Given the description of an element on the screen output the (x, y) to click on. 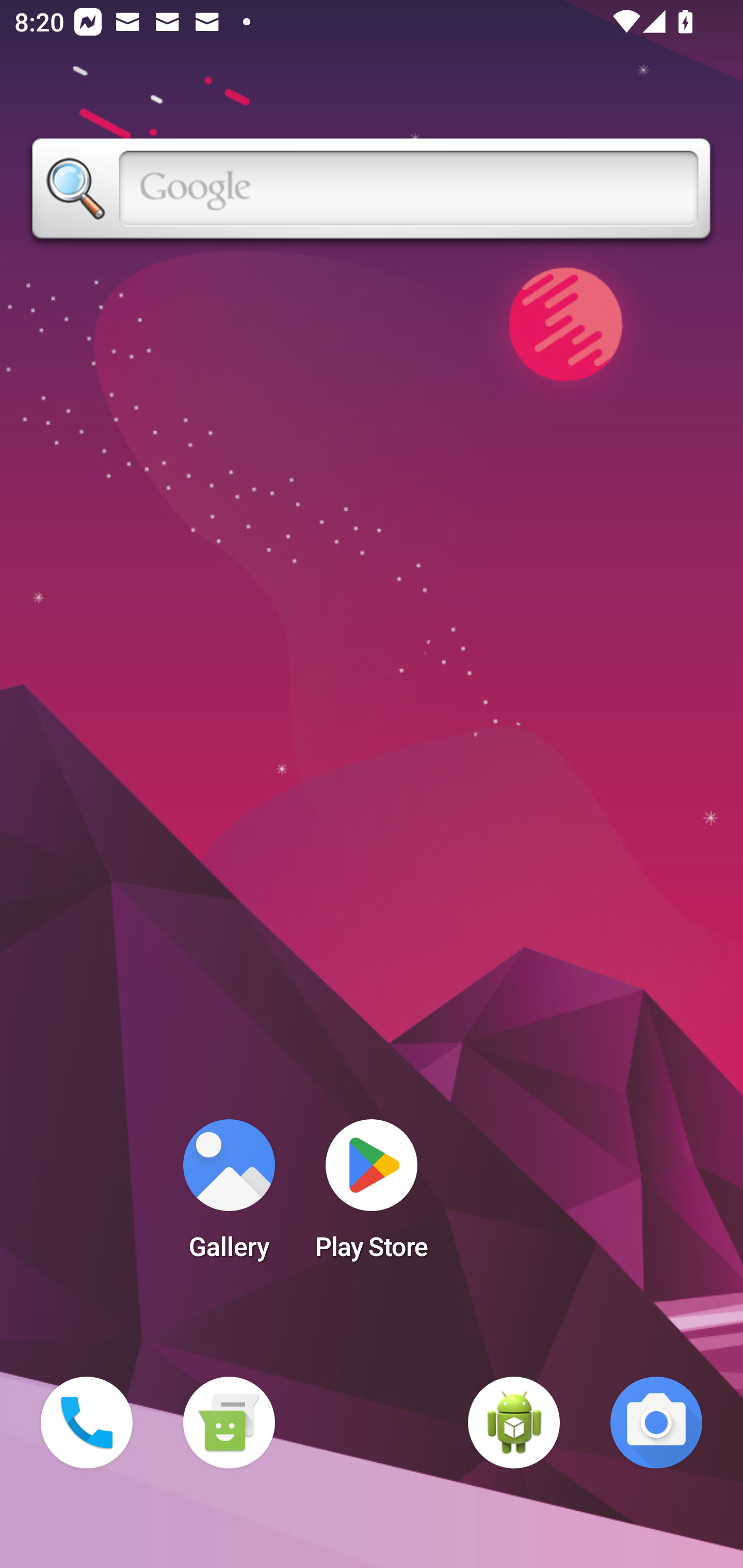
Gallery (228, 1195)
Play Store (371, 1195)
Phone (86, 1422)
Messaging (228, 1422)
WebView Browser Tester (513, 1422)
Camera (656, 1422)
